Given the description of an element on the screen output the (x, y) to click on. 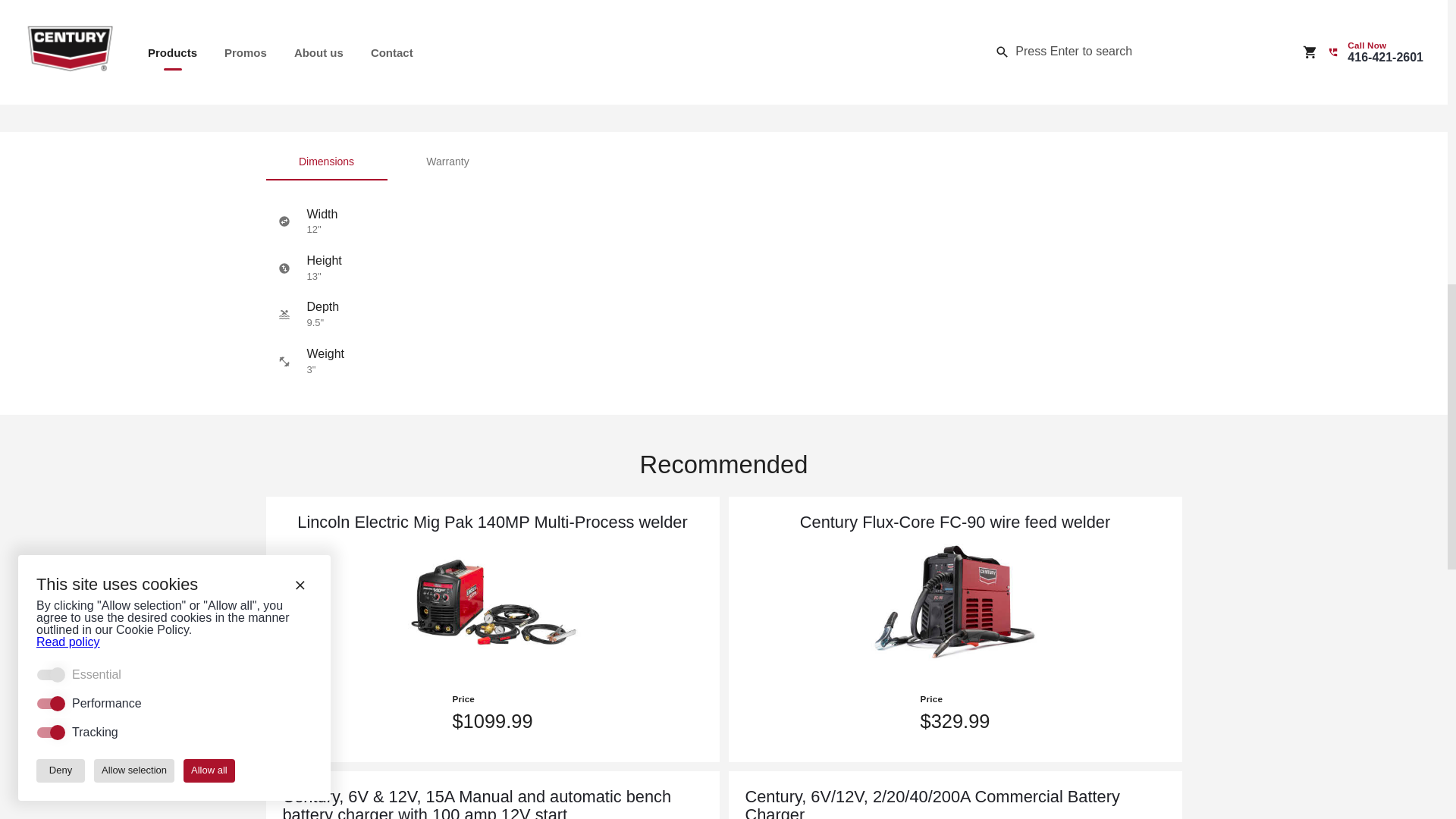
Dimensions (722, 162)
Warranty (325, 162)
